Given the description of an element on the screen output the (x, y) to click on. 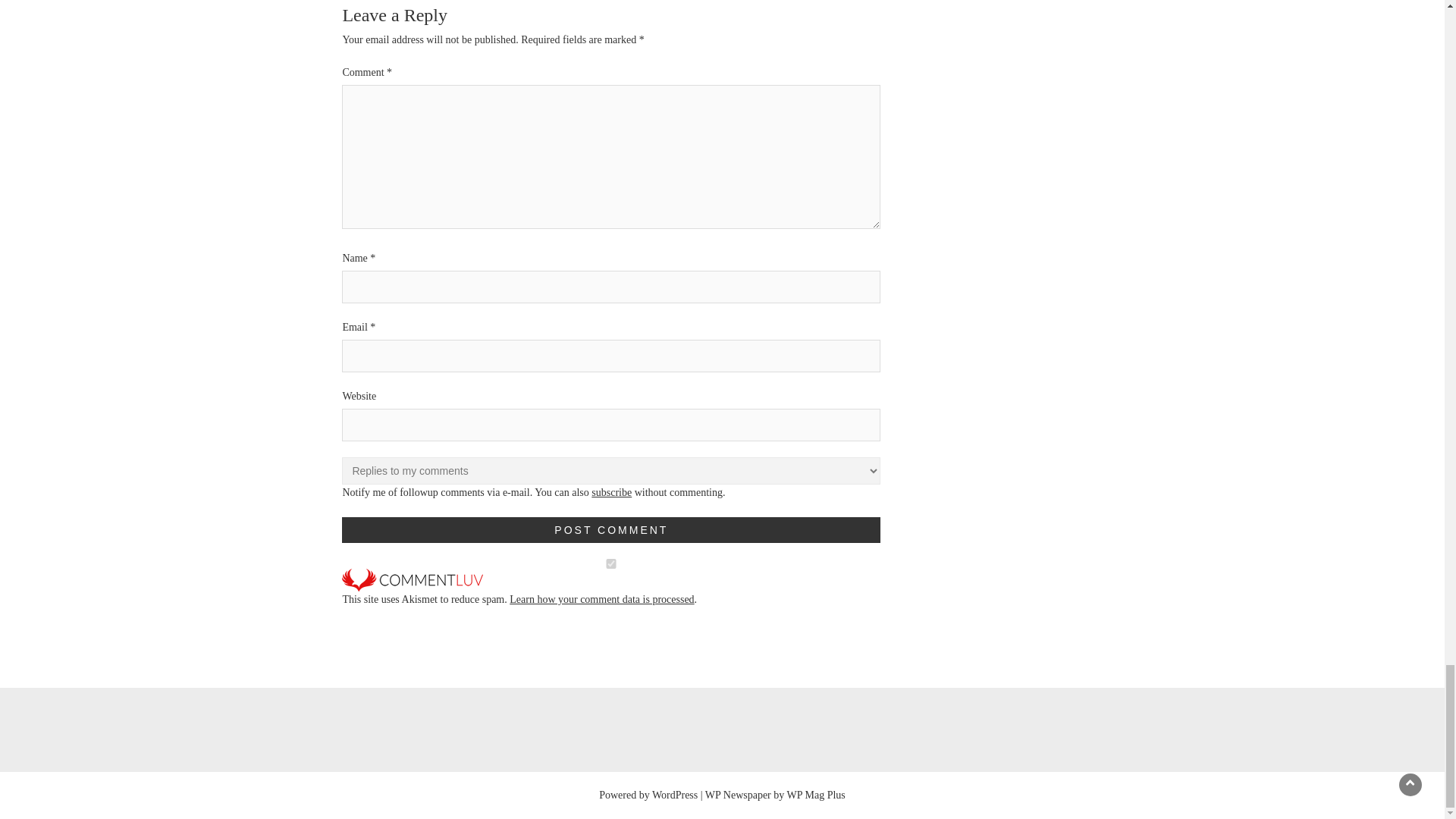
on (611, 563)
Post Comment (611, 529)
CommentLuv is enabled (412, 578)
